Given the description of an element on the screen output the (x, y) to click on. 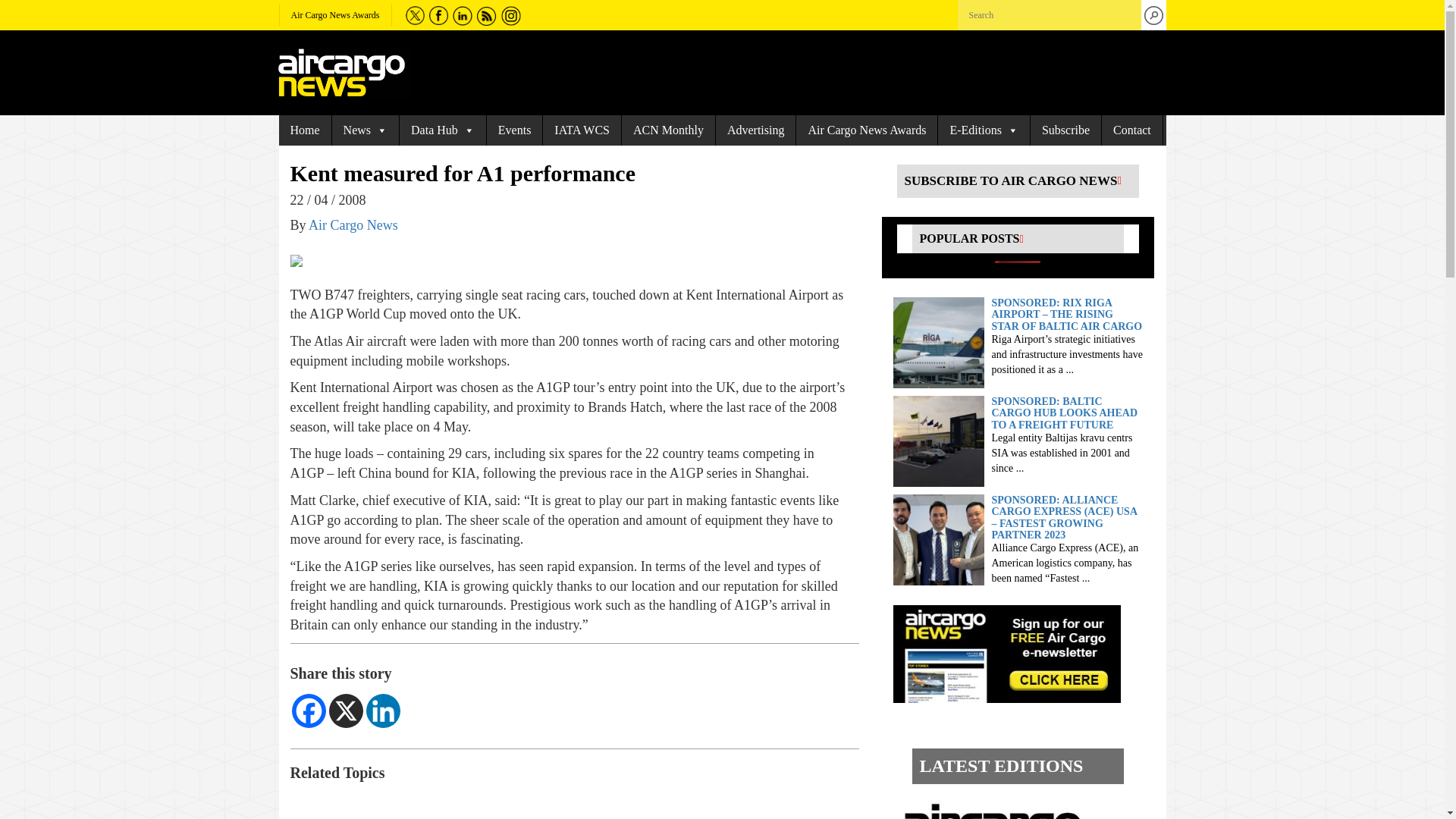
News (364, 130)
Home (305, 130)
SPONSORED: Baltic Cargo HUB looks ahead to a freight future (938, 439)
Facebook (307, 710)
Air Cargo News Issue 906 -Summer 2024 (1002, 807)
Air Cargo News Awards (335, 14)
X (345, 710)
Linkedin (381, 710)
